Given the description of an element on the screen output the (x, y) to click on. 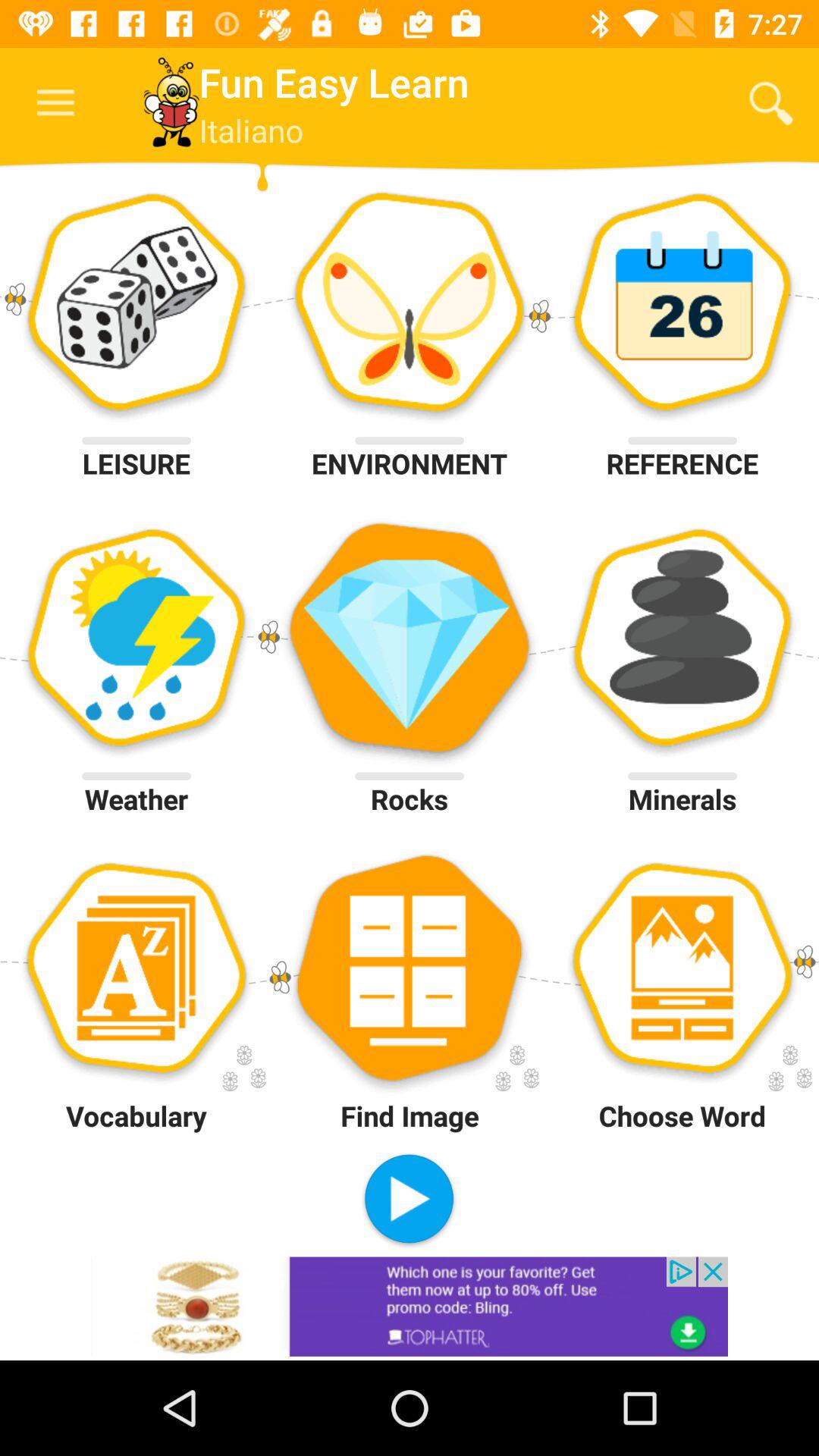
press the icon next to the fun easy learn item (771, 103)
